Given the description of an element on the screen output the (x, y) to click on. 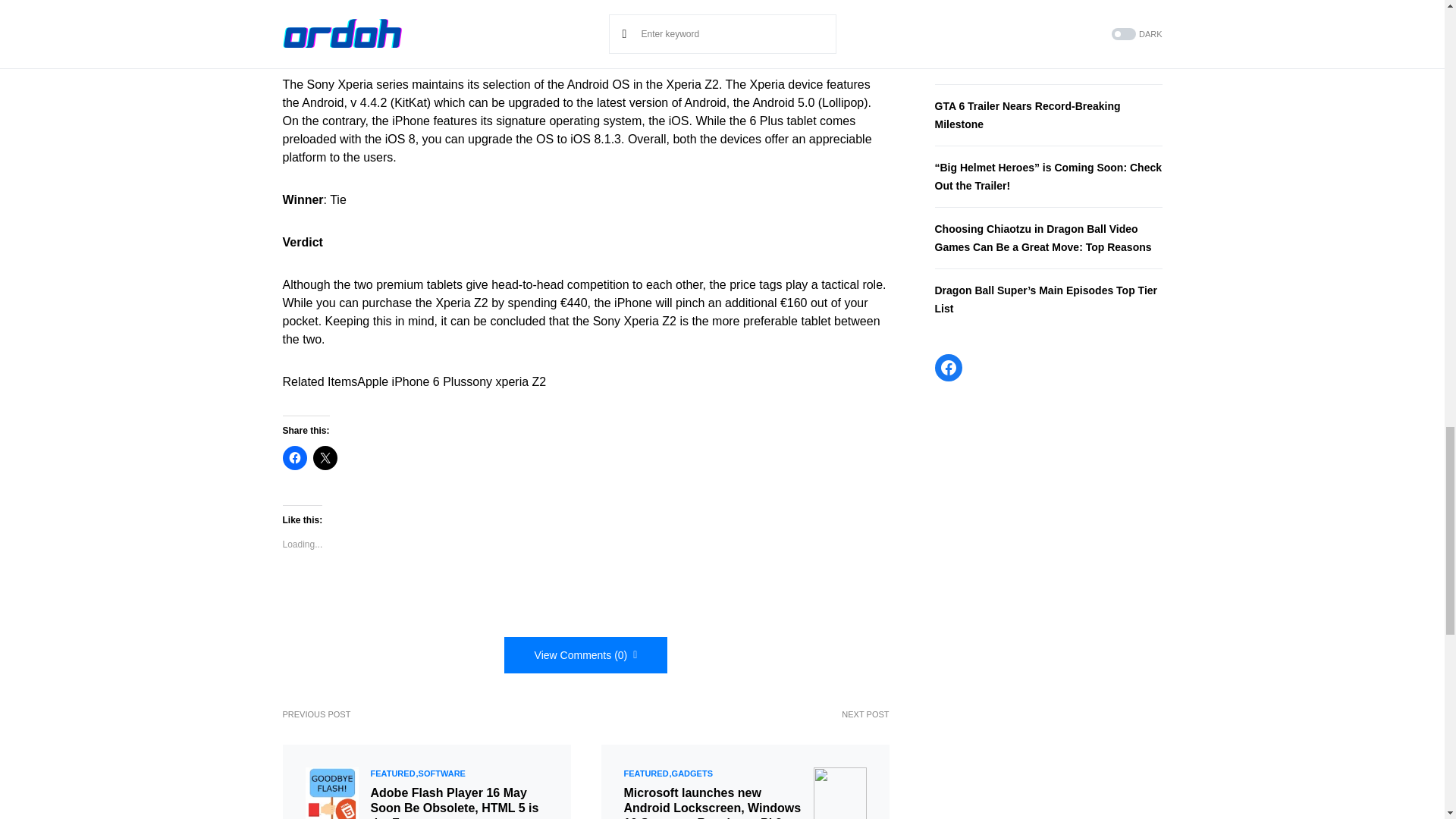
Click to share on Facebook (293, 457)
Click to share on X (324, 457)
